Given the description of an element on the screen output the (x, y) to click on. 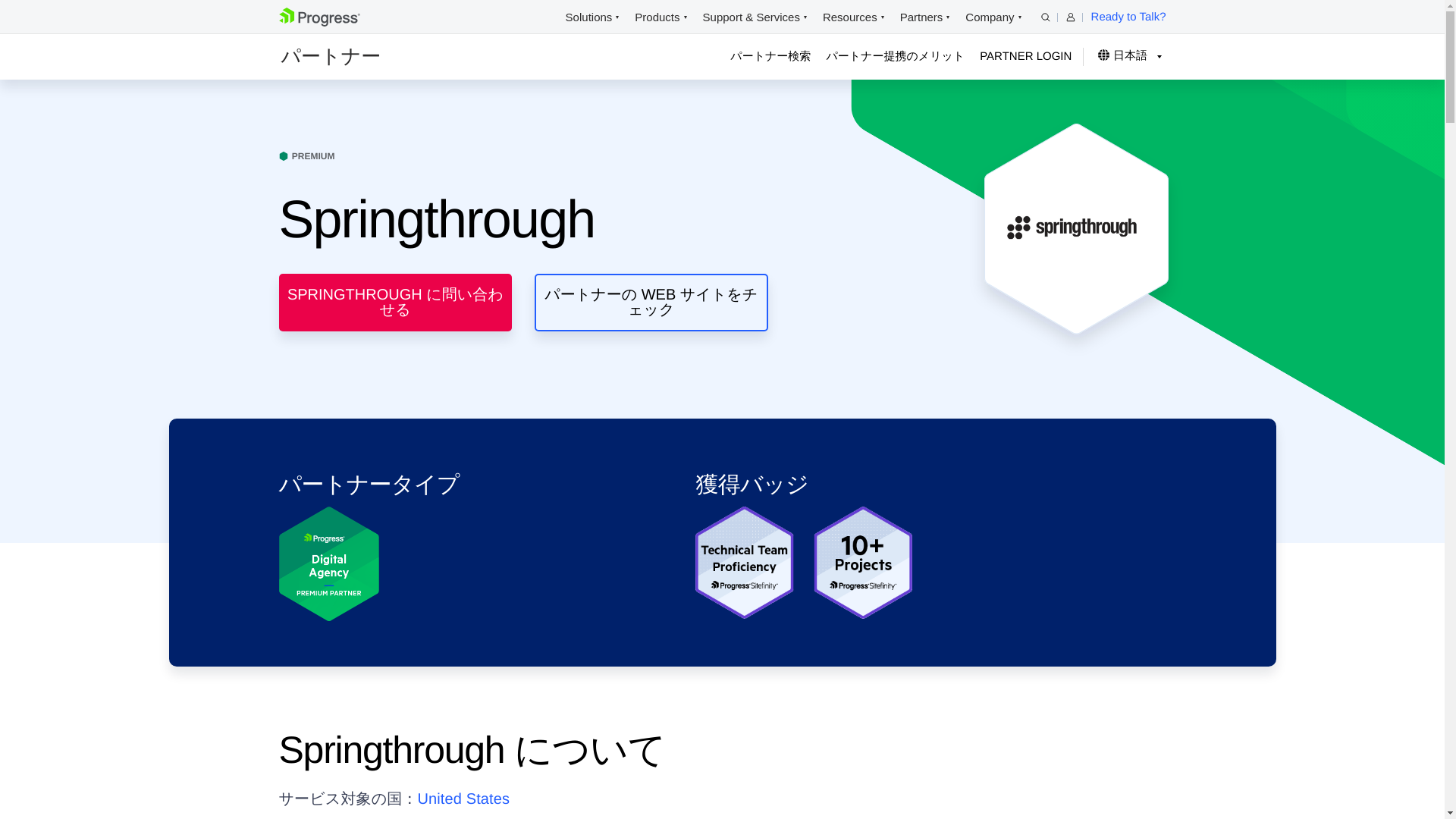
Progress (319, 22)
SKIP NAVIGATION (343, 17)
Solutions (589, 17)
Progress (319, 16)
Products (656, 17)
Search (1045, 17)
